Given the description of an element on the screen output the (x, y) to click on. 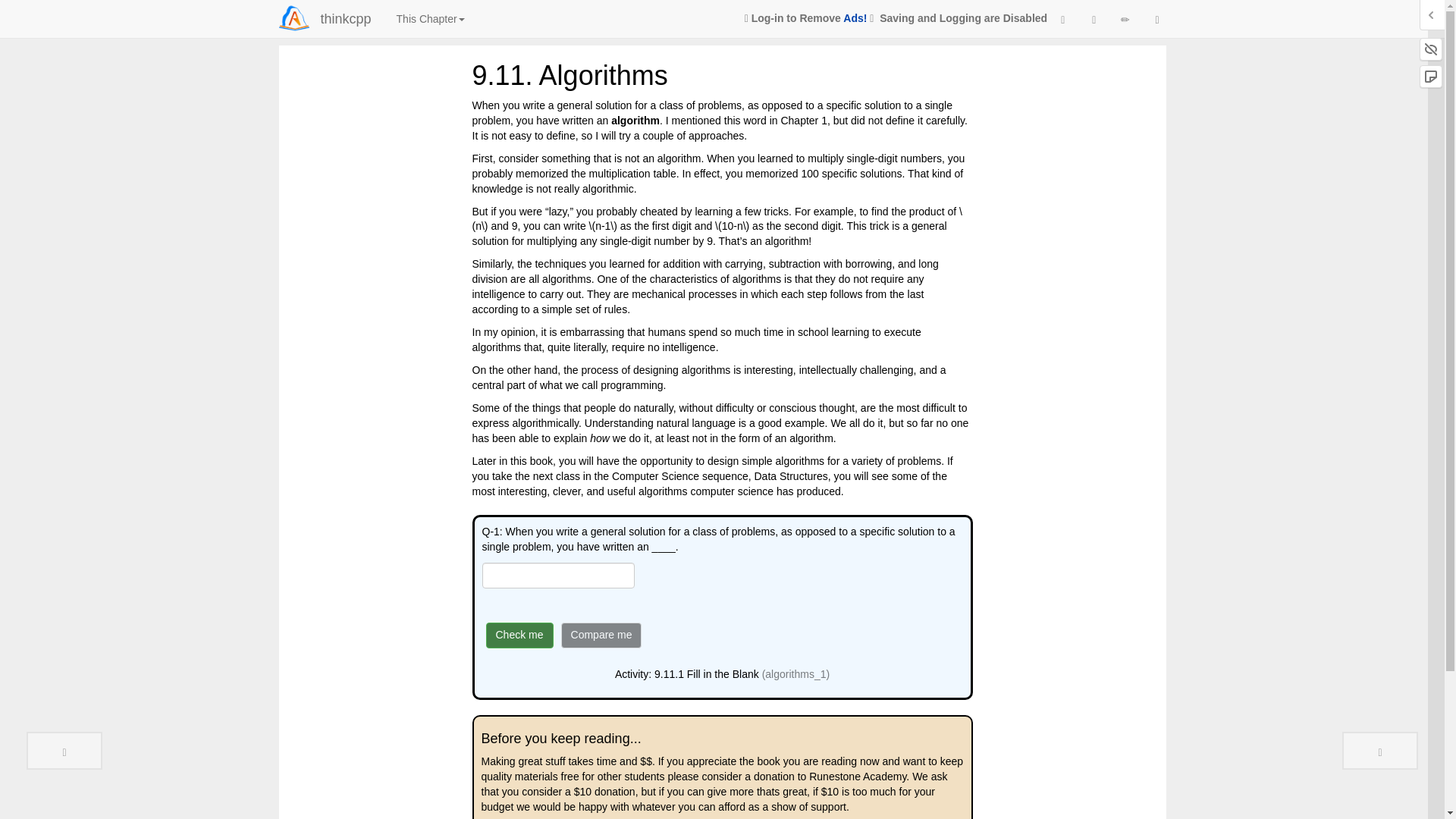
This Chapter (430, 18)
thinkcpp (345, 18)
Ads! (854, 18)
